Given the description of an element on the screen output the (x, y) to click on. 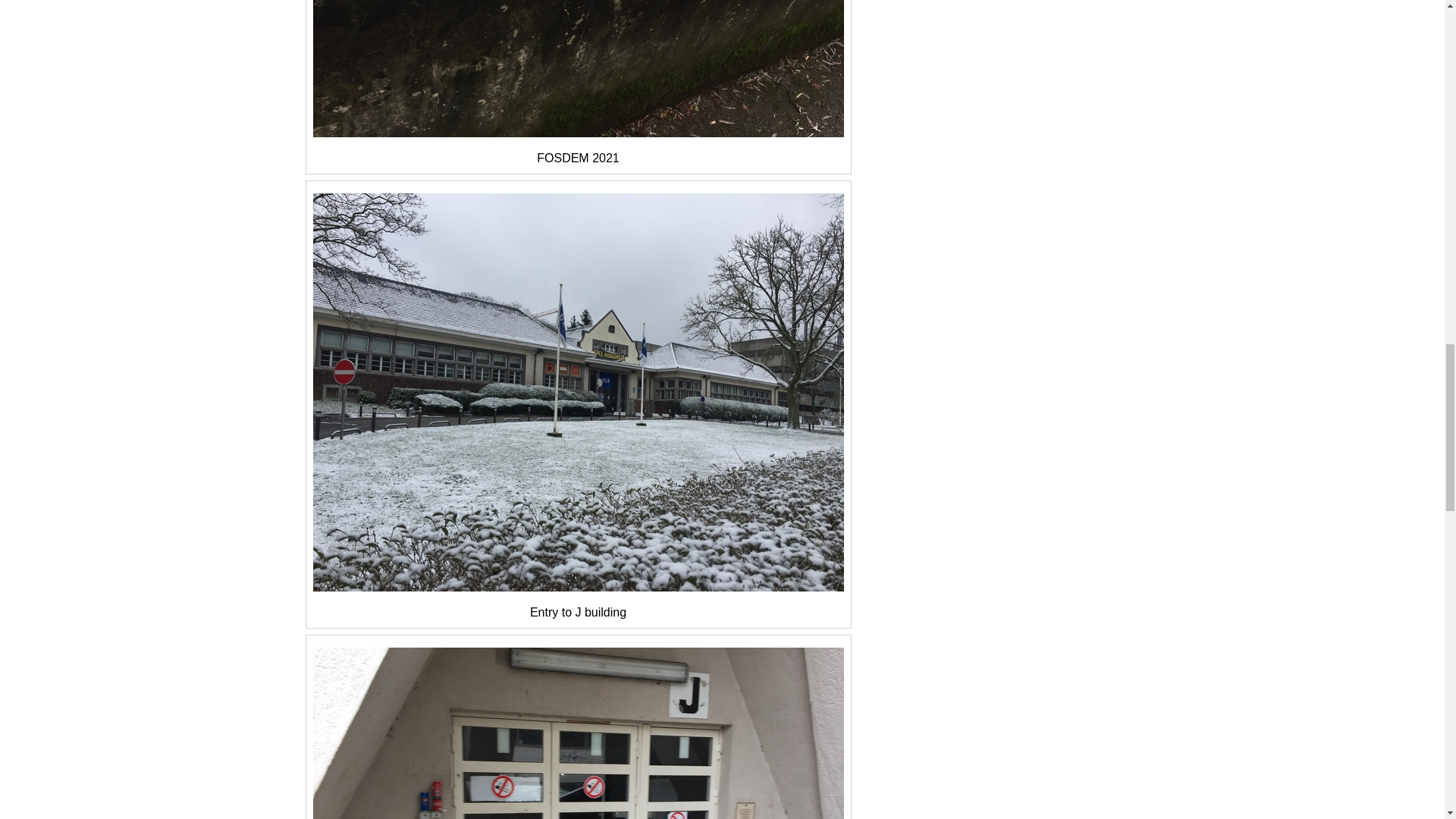
Janson bar was closed (578, 733)
FOSDEM 2021 (578, 68)
